Given the description of an element on the screen output the (x, y) to click on. 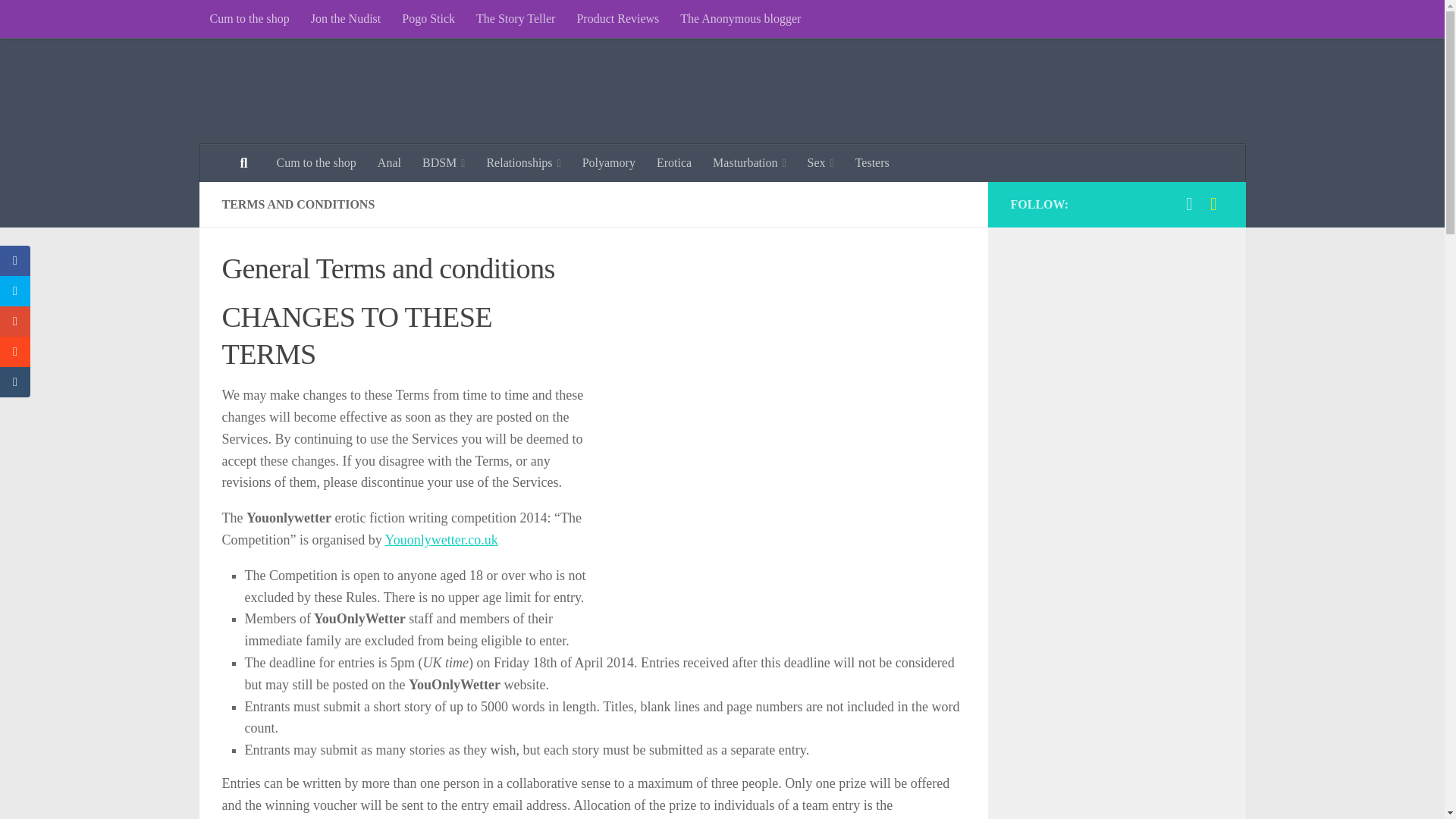
Anal (389, 162)
Cum to the shop (248, 18)
Product Reviews (617, 18)
Follow us on Twitter (1188, 203)
The Story Teller (515, 18)
Cum to the shop (315, 162)
The Anonymous blogger (739, 18)
Skip to content (59, 20)
Pogo Stick (428, 18)
Follow us on Snapchat (1213, 203)
